Given the description of an element on the screen output the (x, y) to click on. 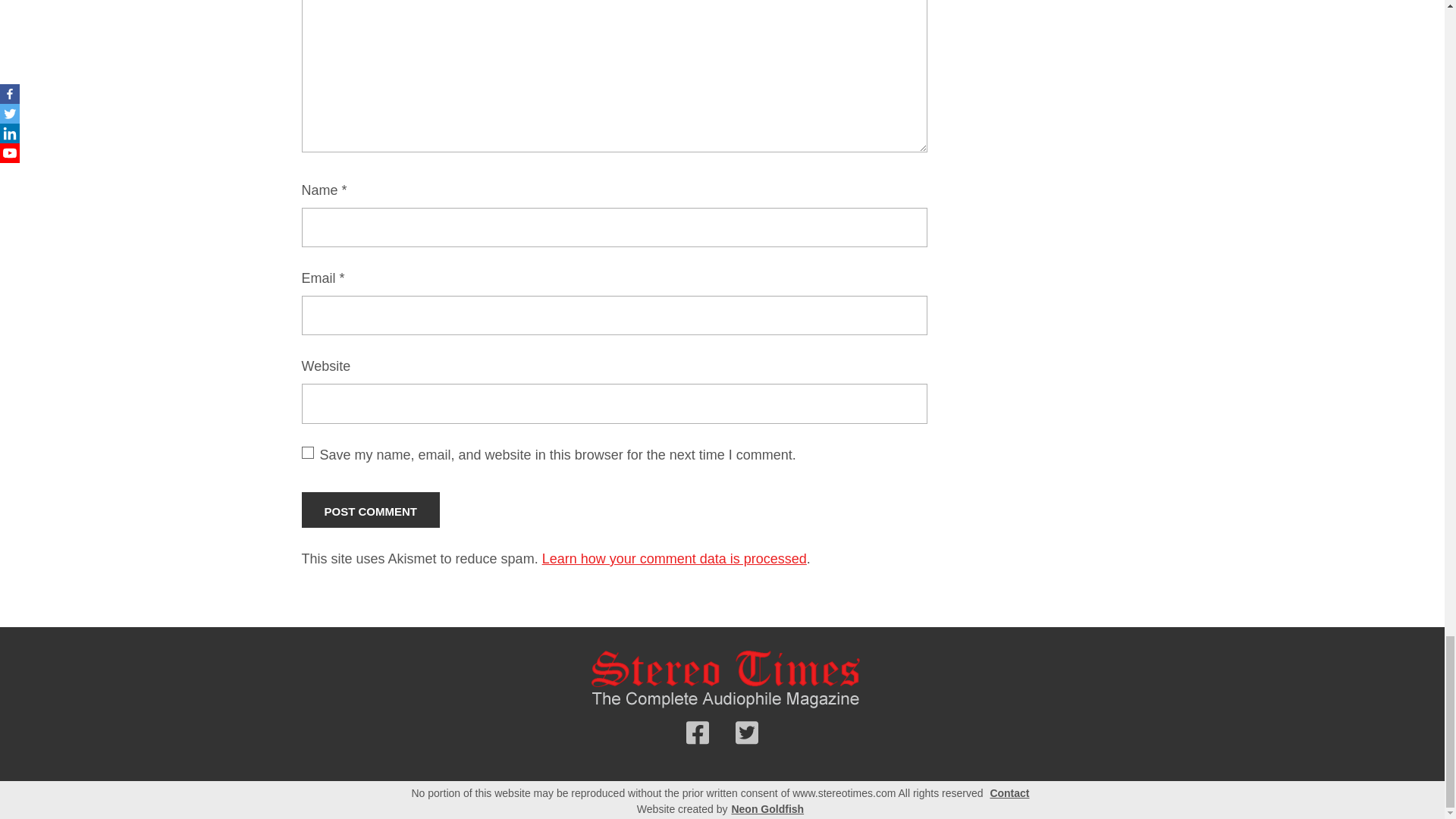
Post Comment (371, 509)
Learn how your comment data is processed (673, 558)
Post Comment (371, 509)
